Given the description of an element on the screen output the (x, y) to click on. 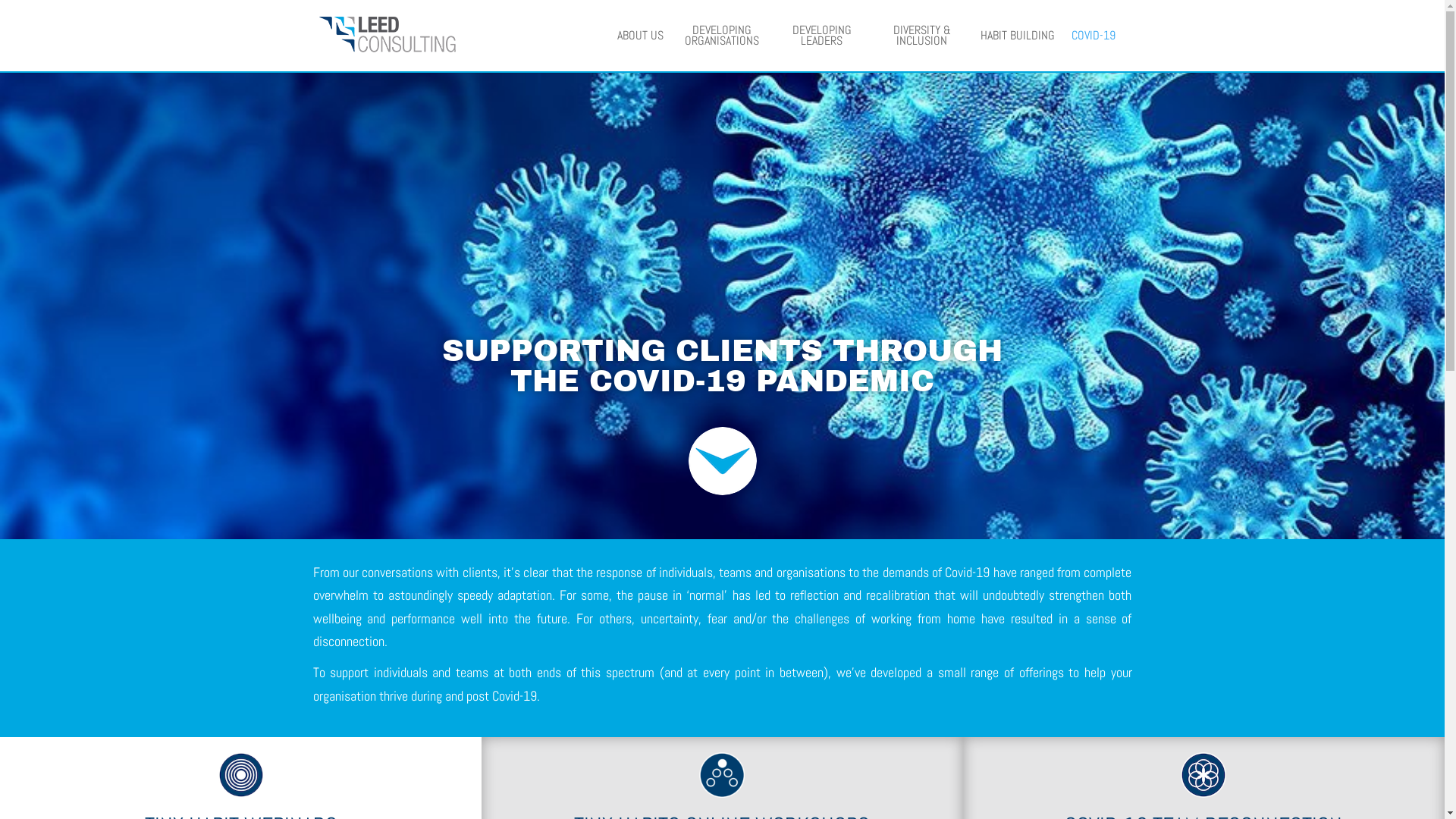
HABIT BUILDING Element type: text (1016, 47)
DIVERSITY & INCLUSION Element type: text (921, 48)
COVID-19 Element type: text (1092, 47)
ABOUT US Element type: text (640, 47)
DEVELOPING LEADERS Element type: text (820, 48)
DEVELOPING ORGANISATIONS Element type: text (720, 48)
